Given the description of an element on the screen output the (x, y) to click on. 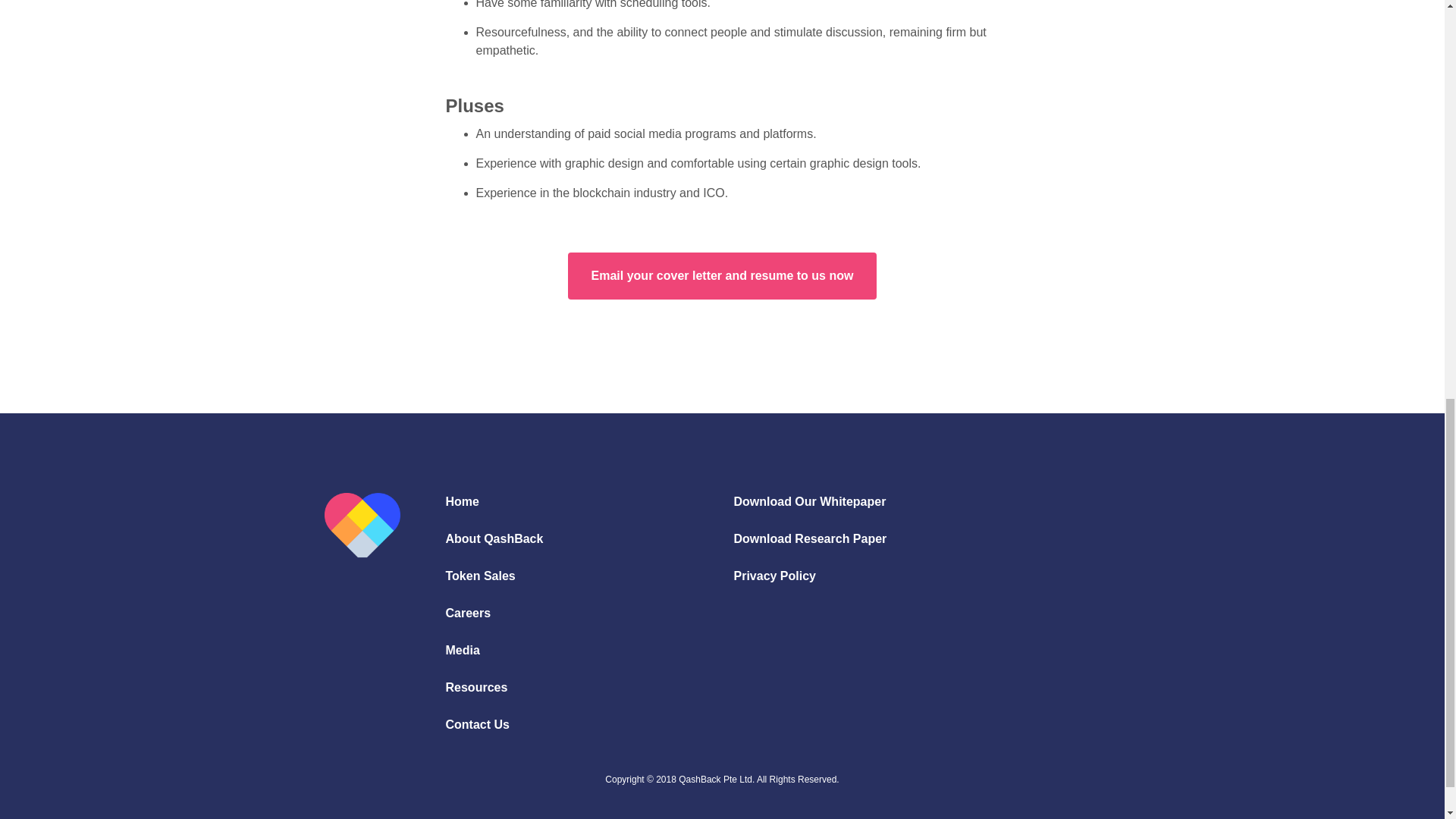
About QashBack (494, 539)
Careers (468, 613)
Token Sales (480, 575)
Resources (476, 687)
Download Research Paper (809, 539)
Media (462, 650)
Privacy Policy (774, 575)
Home (462, 501)
Download Our Whitepaper (809, 501)
Email your cover letter and resume to us now (722, 275)
Contact Us (477, 724)
